Given the description of an element on the screen output the (x, y) to click on. 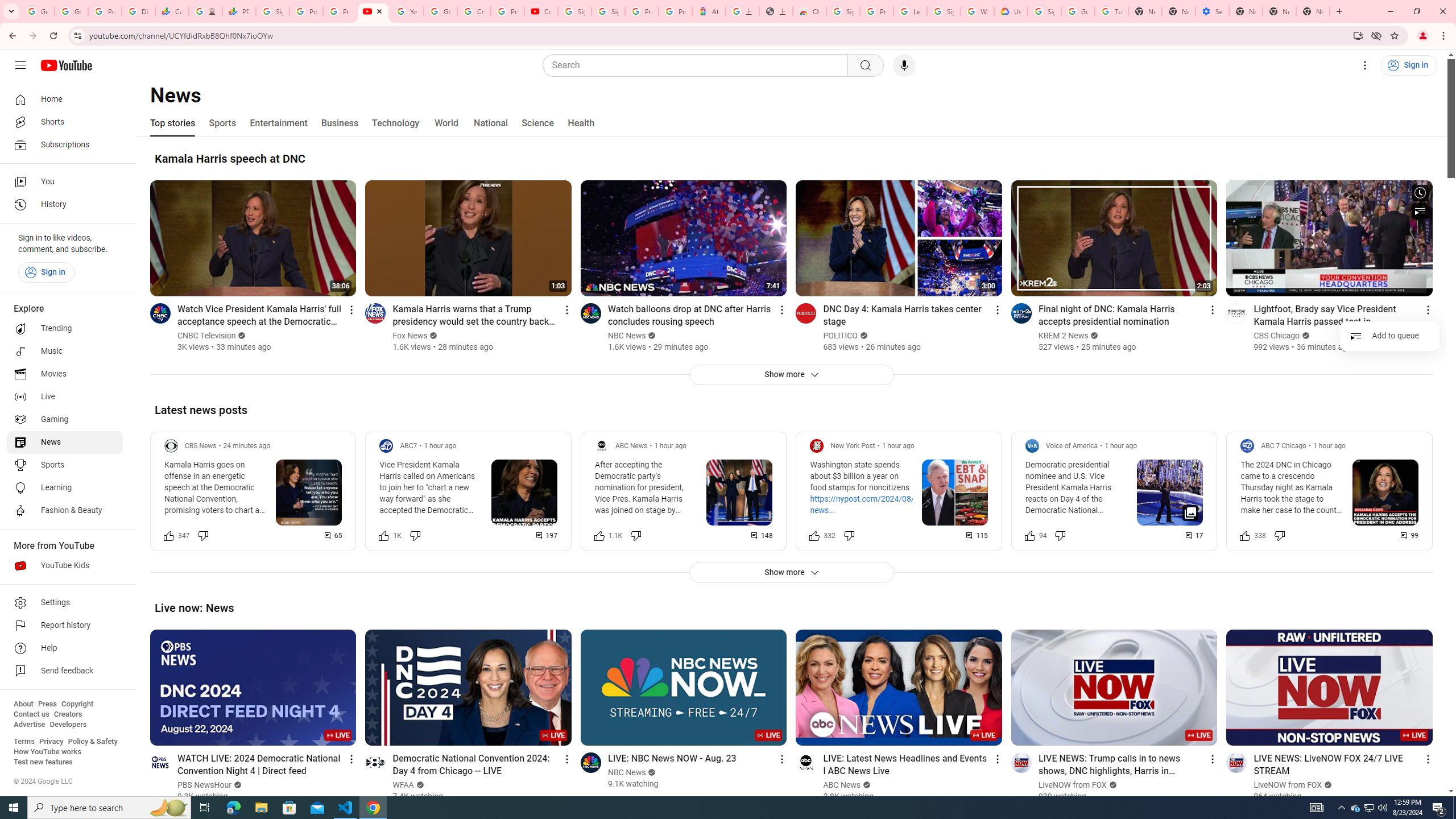
1 hour ago (1329, 445)
How YouTube works (47, 751)
World (446, 122)
Fox News (410, 335)
Show more (790, 572)
Turn cookies on or off - Computer - Google Account Help (1111, 11)
Privacy Checkup (339, 11)
Install YouTube (1358, 35)
Contact us (31, 714)
